Given the description of an element on the screen output the (x, y) to click on. 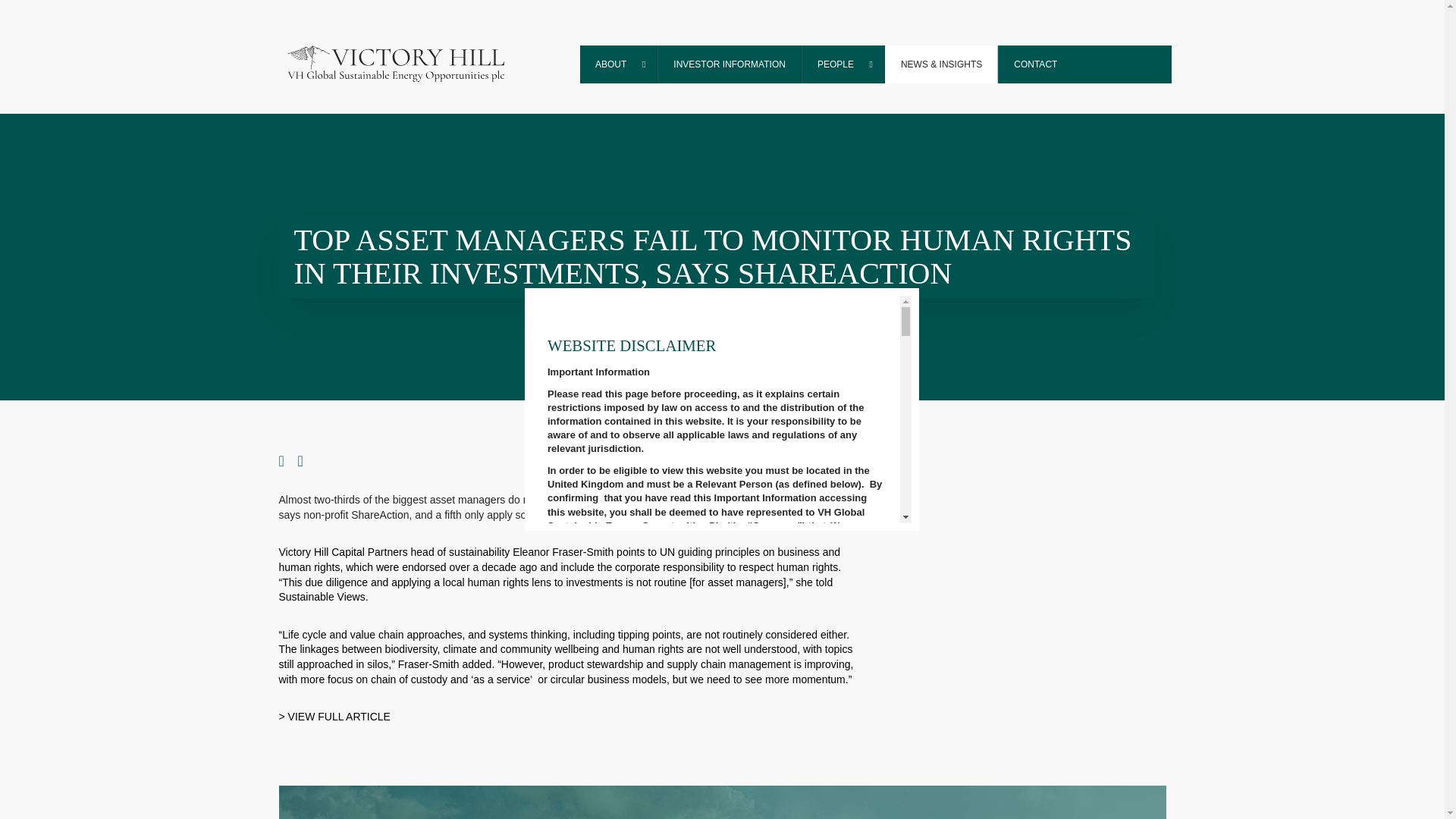
INVESTOR INFORMATION (730, 64)
PEOPLE (843, 64)
CONTACT (1034, 64)
ABOUT (618, 64)
